Given the description of an element on the screen output the (x, y) to click on. 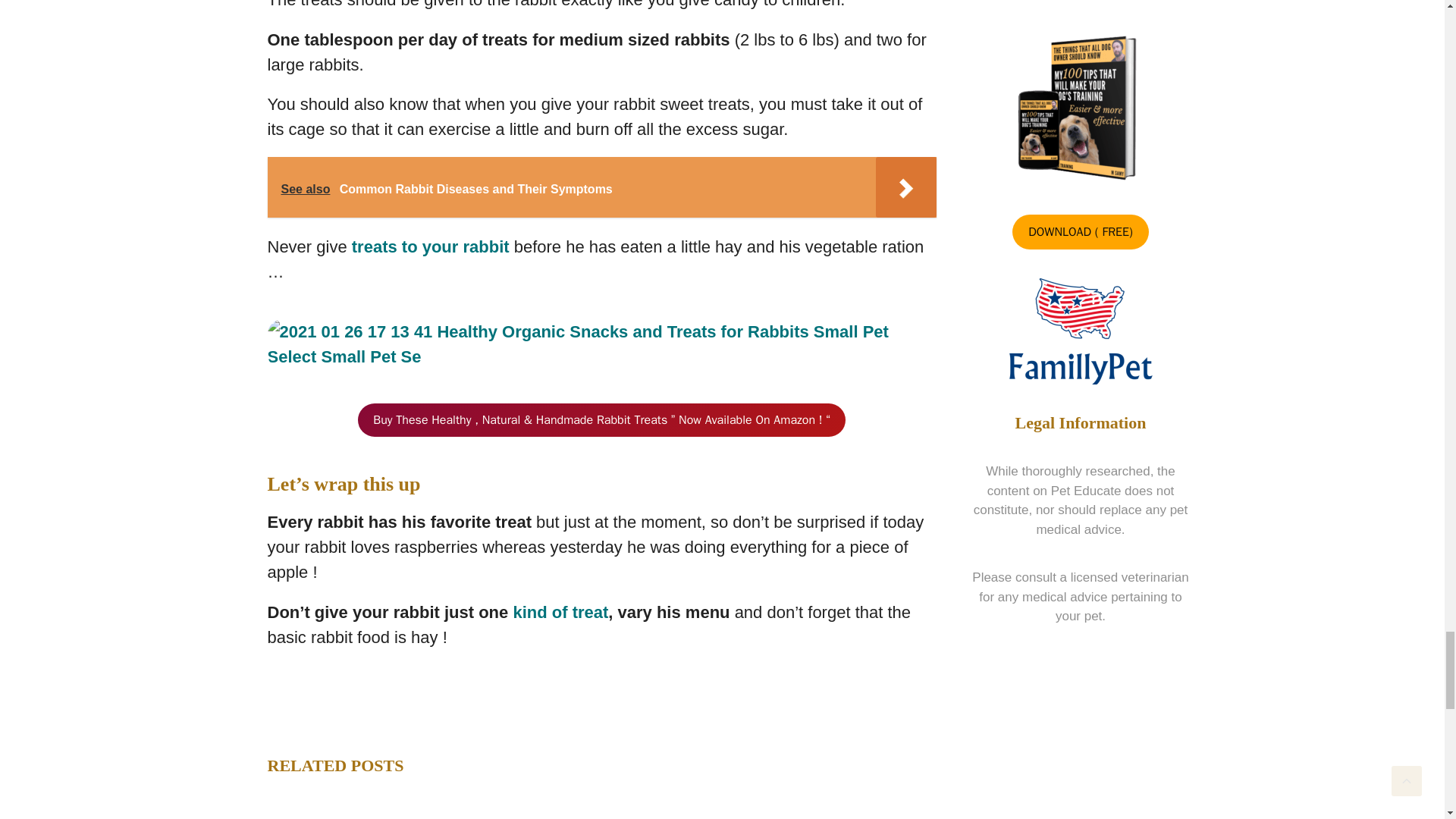
What are Rabbits Favorite Treats ? 6 (601, 344)
